Given the description of an element on the screen output the (x, y) to click on. 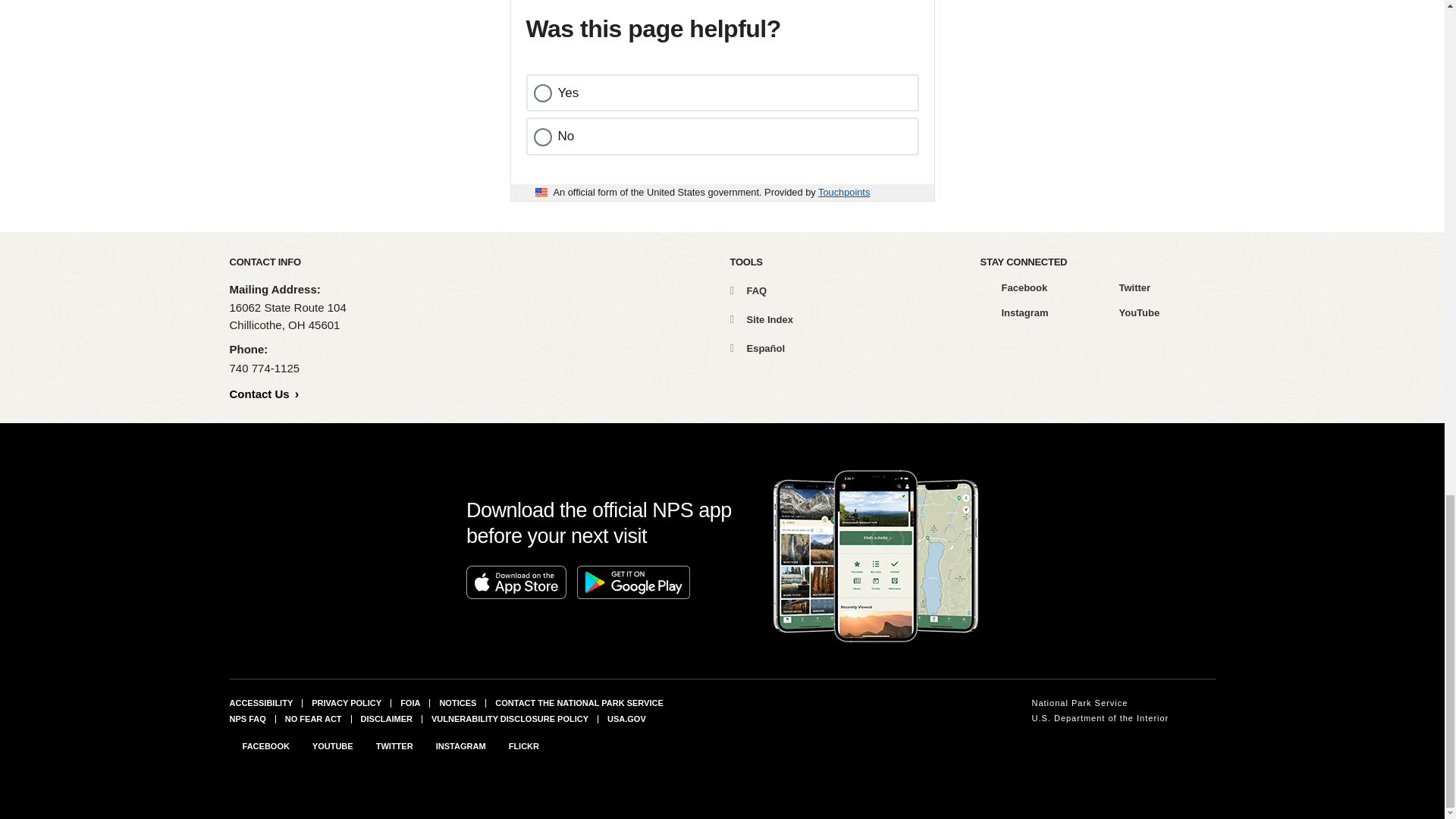
National Park Service frequently asked questions (246, 718)
